Given the description of an element on the screen output the (x, y) to click on. 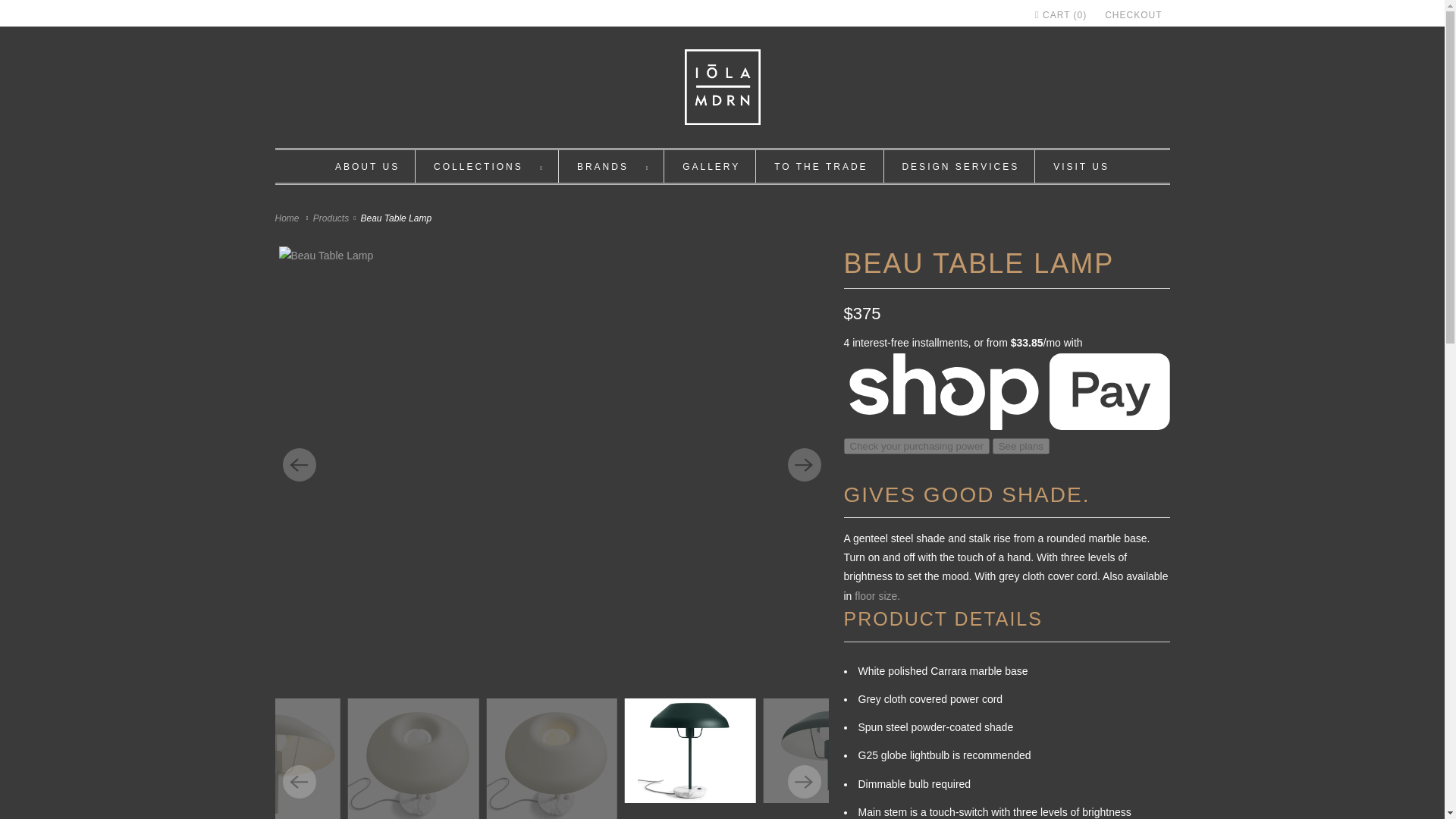
Iola Modern (288, 217)
CHECKOUT (1133, 15)
Products (332, 217)
Iola Modern (722, 90)
